Given the description of an element on the screen output the (x, y) to click on. 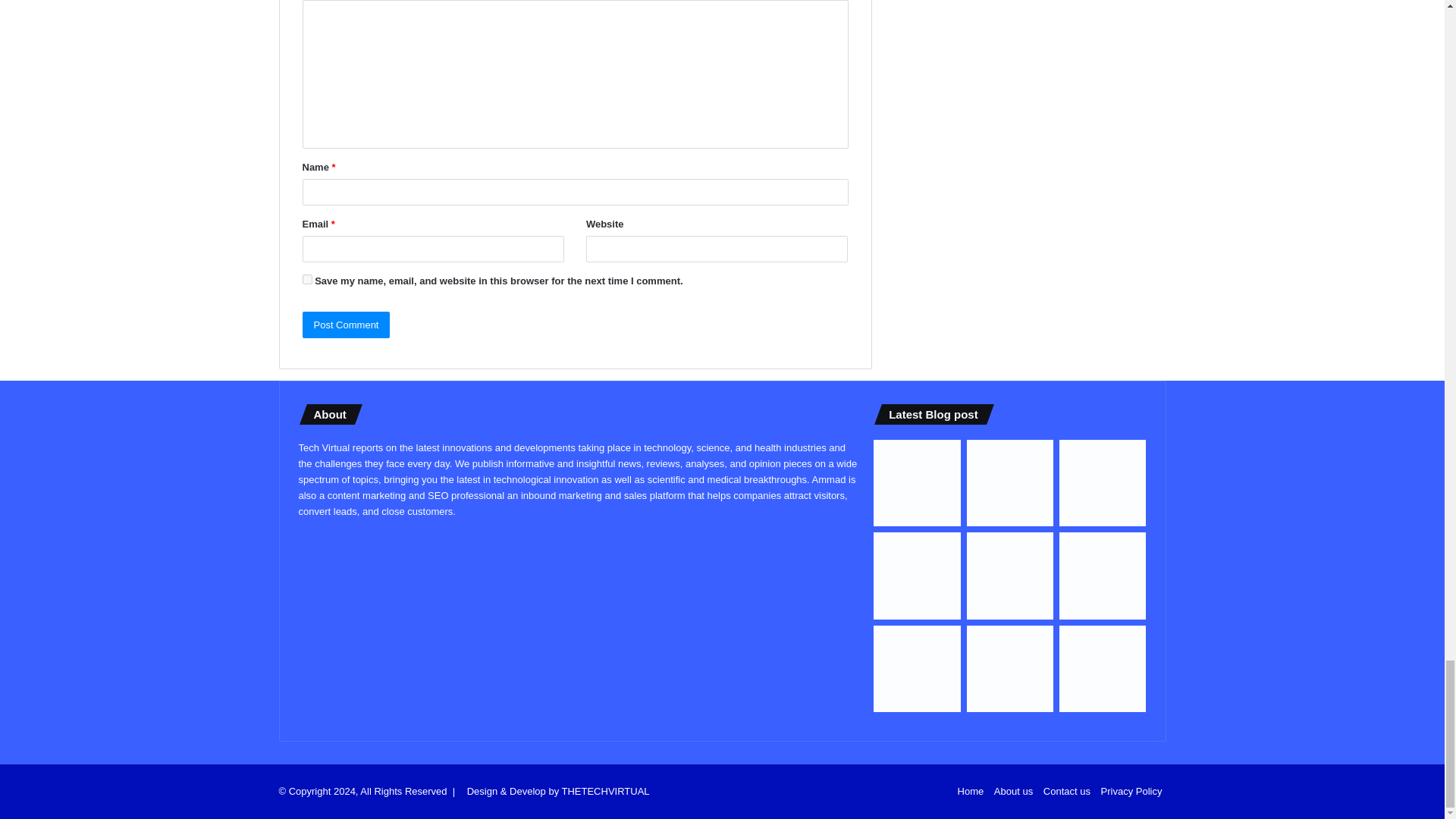
Post Comment (345, 325)
yes (306, 279)
